Given the description of an element on the screen output the (x, y) to click on. 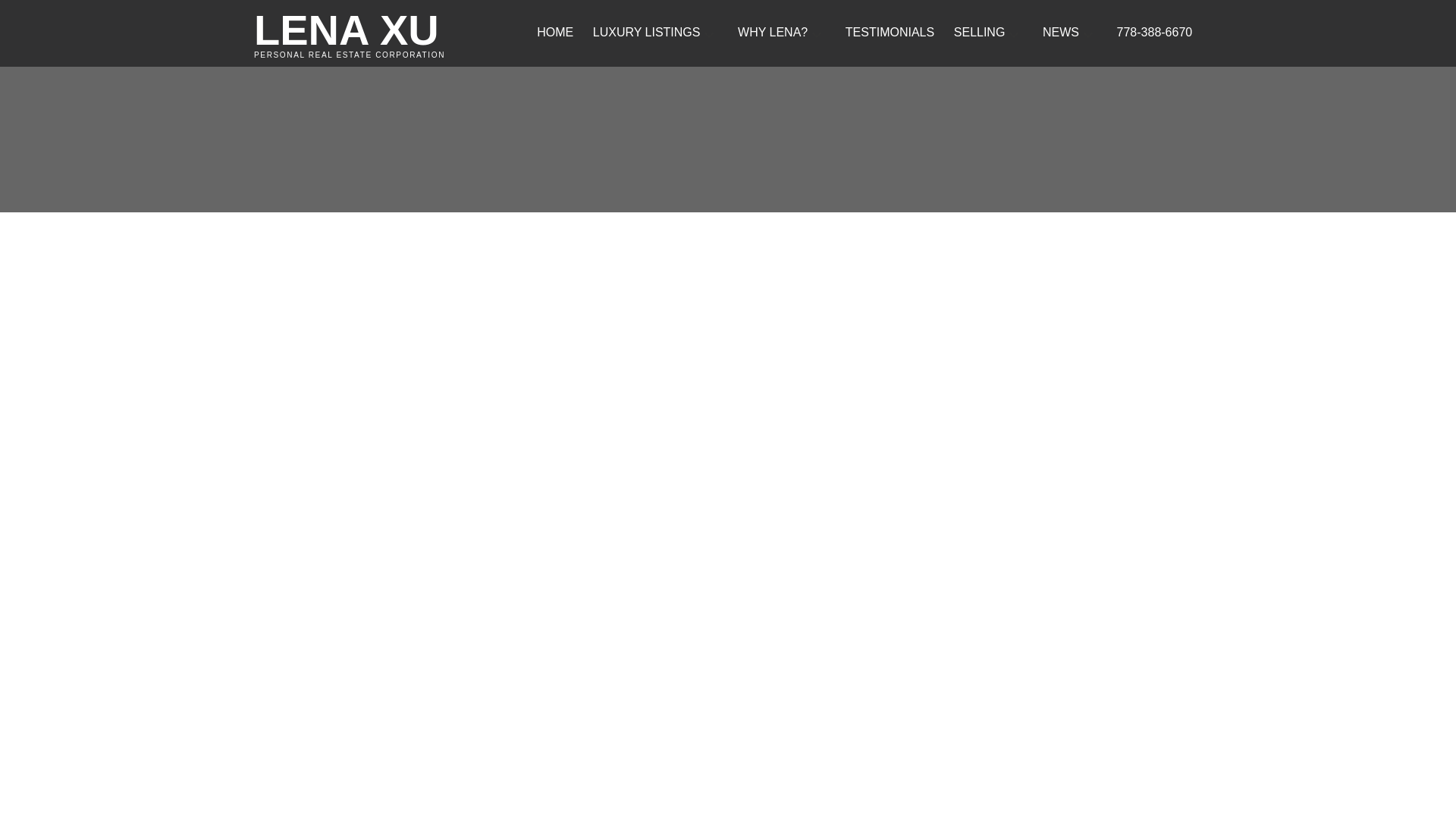
HOME (369, 33)
TESTIMONIALS (555, 33)
NEWS (889, 33)
778-388-6670 (1060, 33)
